Given the description of an element on the screen output the (x, y) to click on. 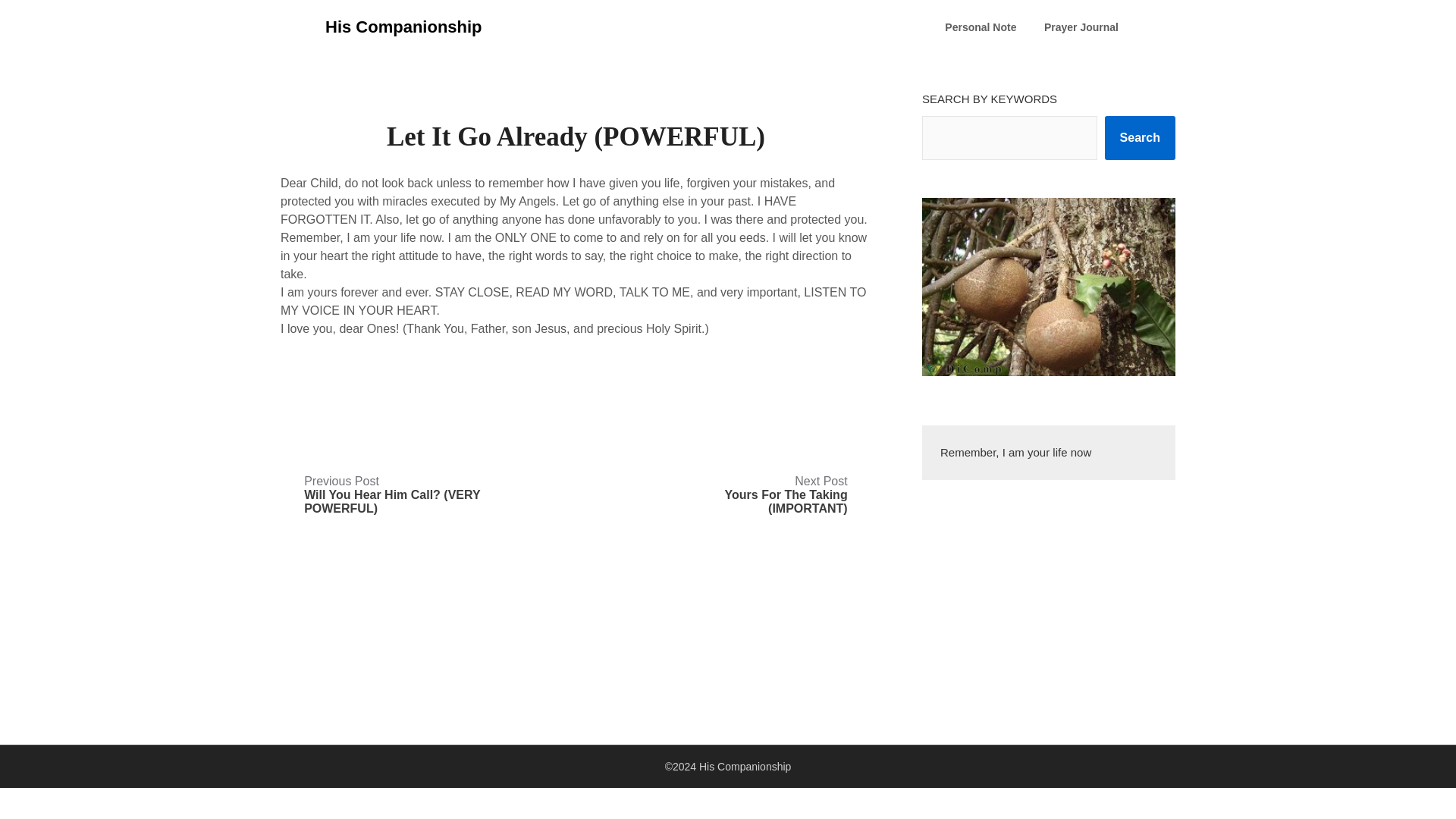
Search (1139, 137)
Prayer Journal (1081, 27)
Personal Note (980, 27)
His Companionship (402, 26)
